Given the description of an element on the screen output the (x, y) to click on. 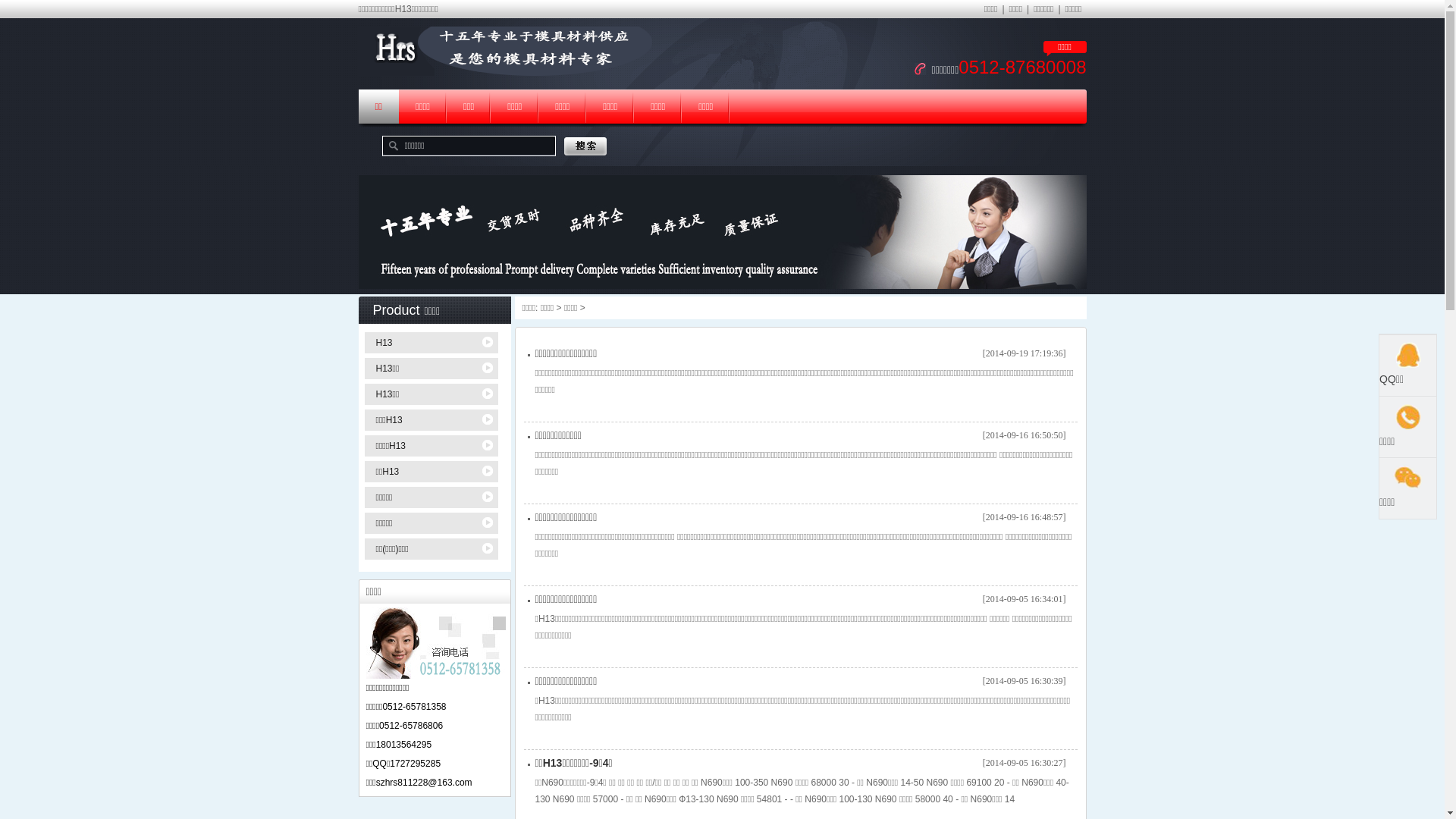
H13 Element type: text (434, 342)
